Given the description of an element on the screen output the (x, y) to click on. 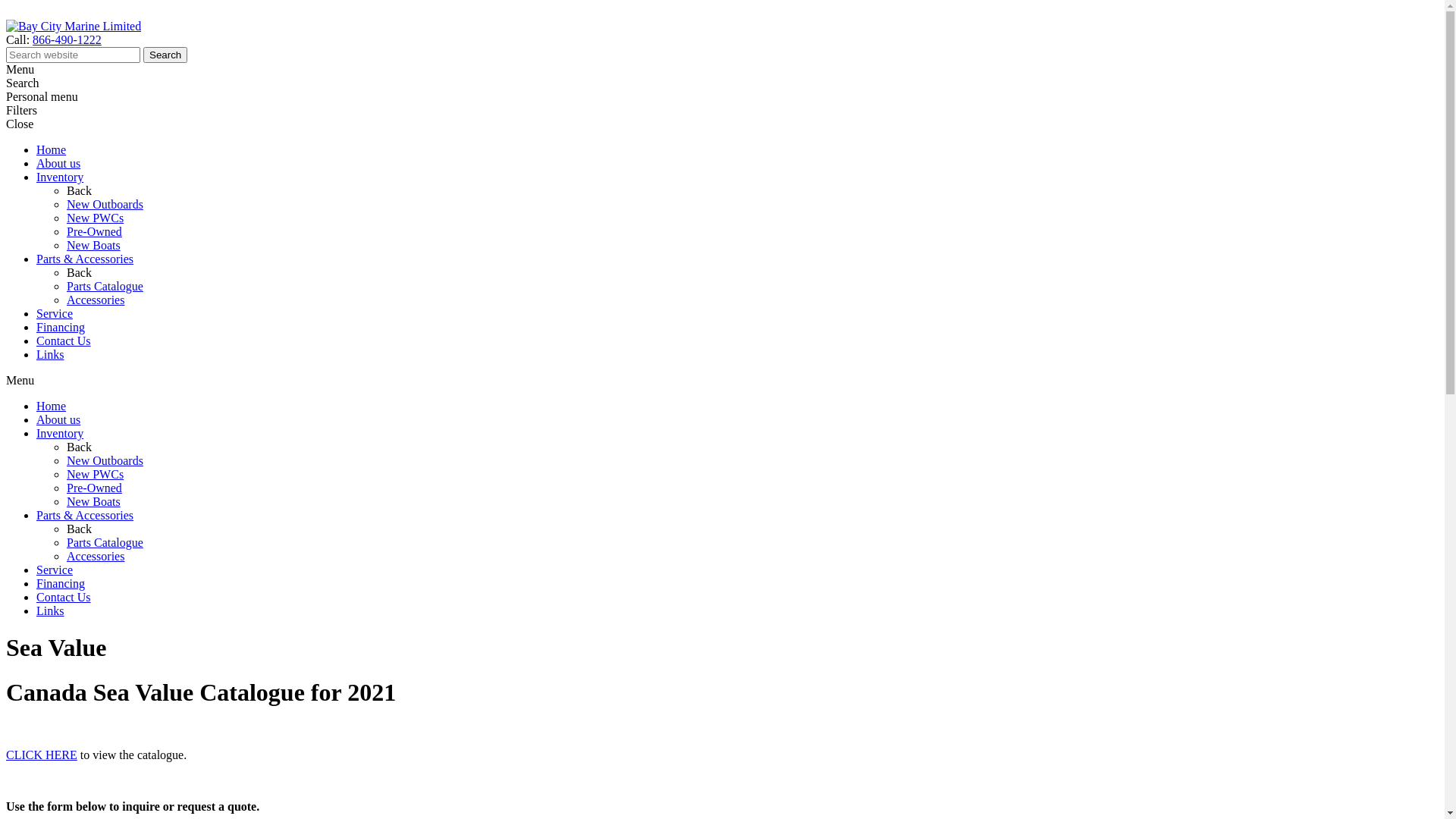
Links Element type: text (49, 354)
Parts Catalogue Element type: text (104, 542)
Links Element type: text (49, 610)
Search Element type: text (165, 54)
CLICK HERE Element type: text (41, 754)
Inventory Element type: text (59, 432)
Service Element type: text (54, 313)
Parts Catalogue Element type: text (104, 285)
New Boats Element type: text (93, 501)
Home Element type: text (50, 405)
New PWCs Element type: text (94, 473)
Accessories Element type: text (95, 299)
Home Element type: text (50, 149)
New Outboards Element type: text (104, 203)
Pre-Owned Element type: text (94, 231)
Parts & Accessories Element type: text (84, 258)
Parts & Accessories Element type: text (84, 514)
Inventory Element type: text (59, 176)
Financing Element type: text (60, 326)
Accessories Element type: text (95, 555)
Financing Element type: text (60, 583)
Contact Us Element type: text (63, 596)
Contact Us Element type: text (63, 340)
Close Element type: hover (7, 12)
Pre-Owned Element type: text (94, 487)
866-490-1222 Element type: text (66, 39)
Service Element type: text (54, 569)
About us Element type: text (58, 419)
New Outboards Element type: text (104, 460)
About us Element type: text (58, 162)
New Boats Element type: text (93, 244)
New PWCs Element type: text (94, 217)
